Given the description of an element on the screen output the (x, y) to click on. 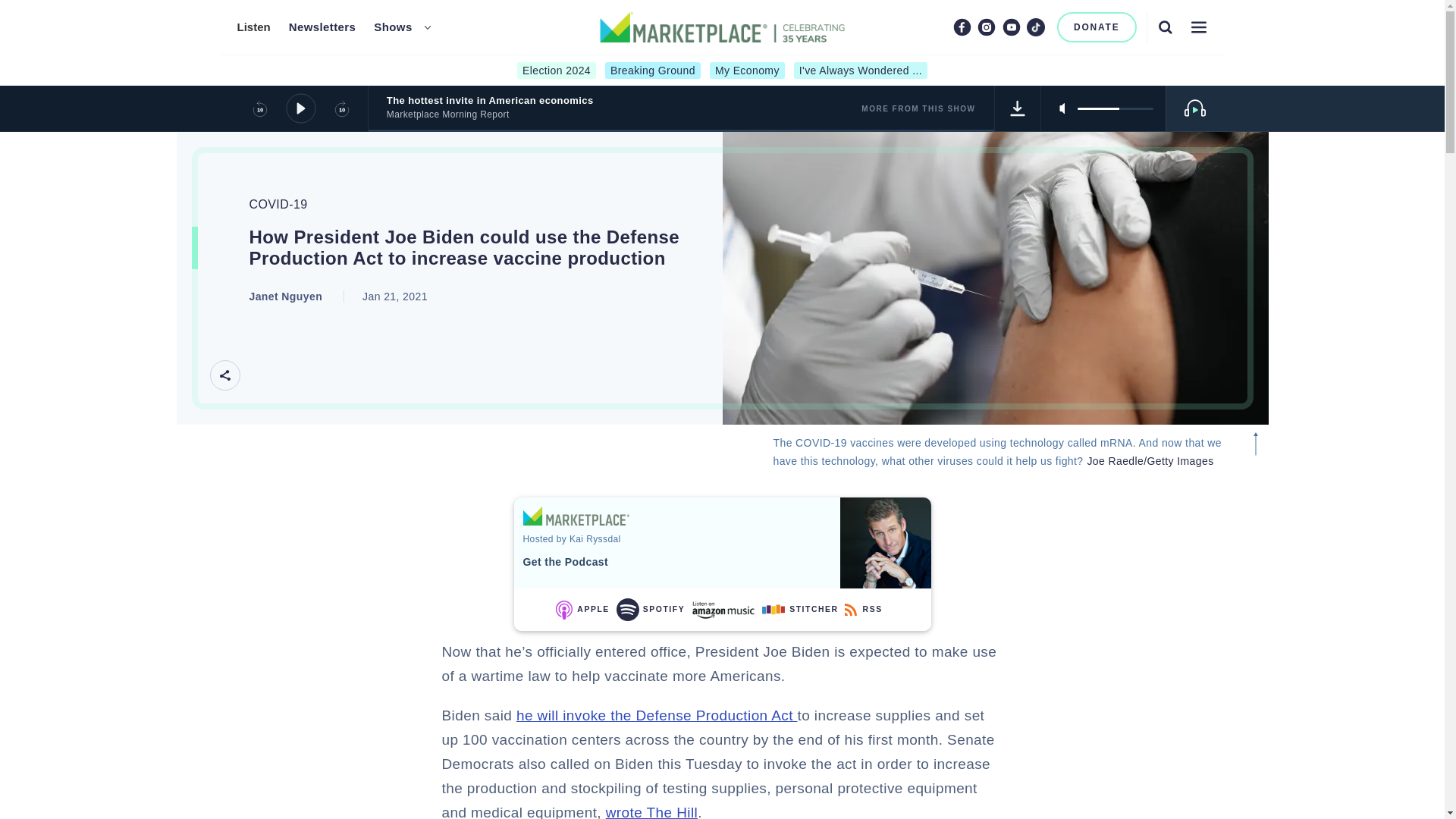
Search (1164, 27)
Listen (252, 26)
volume (1115, 108)
DONATE (1097, 27)
Facebook (962, 27)
Newsletters (322, 27)
Shows (393, 26)
Youtube (1011, 27)
Download Track (1017, 108)
